Given the description of an element on the screen output the (x, y) to click on. 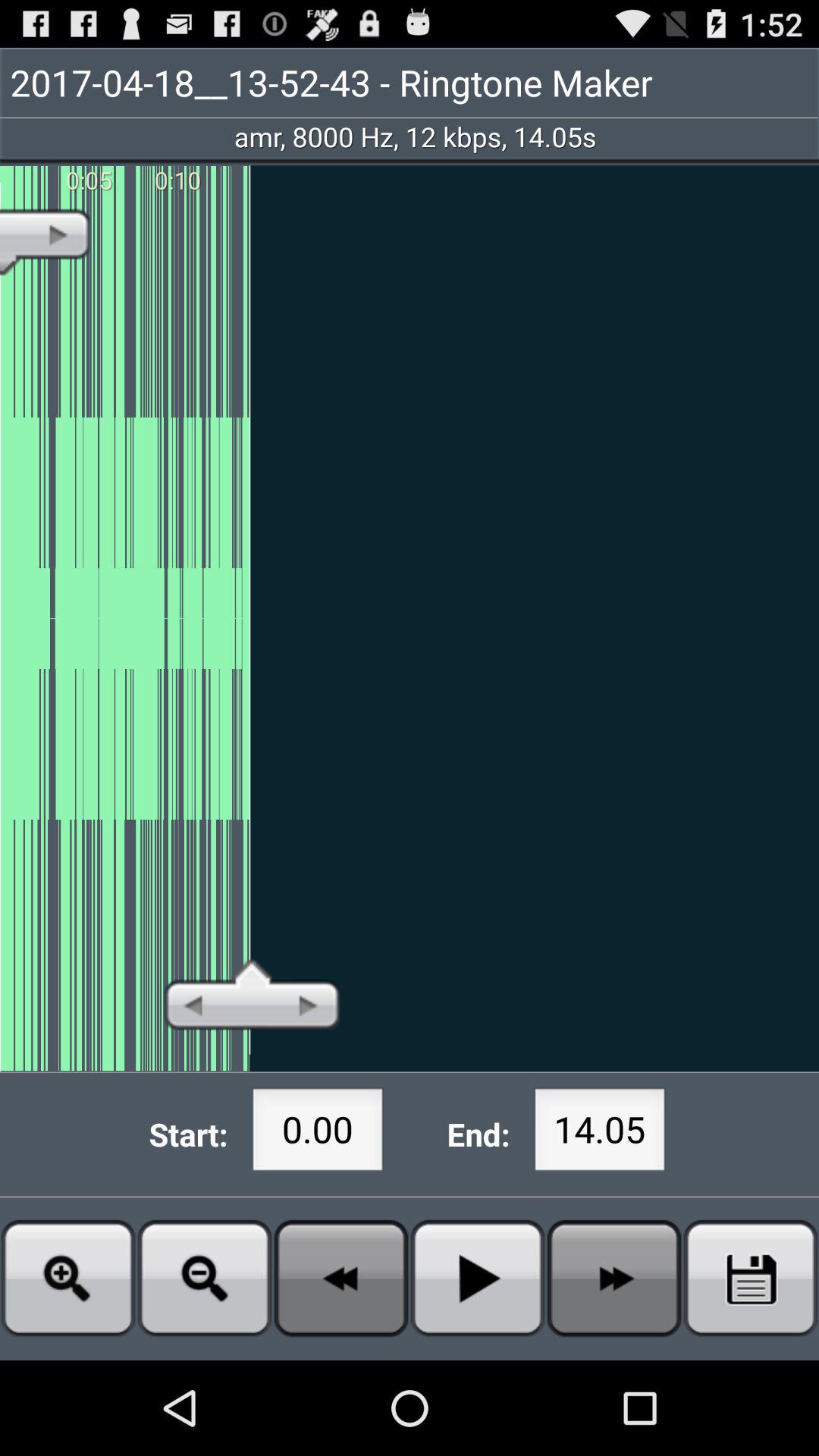
zoom in (68, 1278)
